Given the description of an element on the screen output the (x, y) to click on. 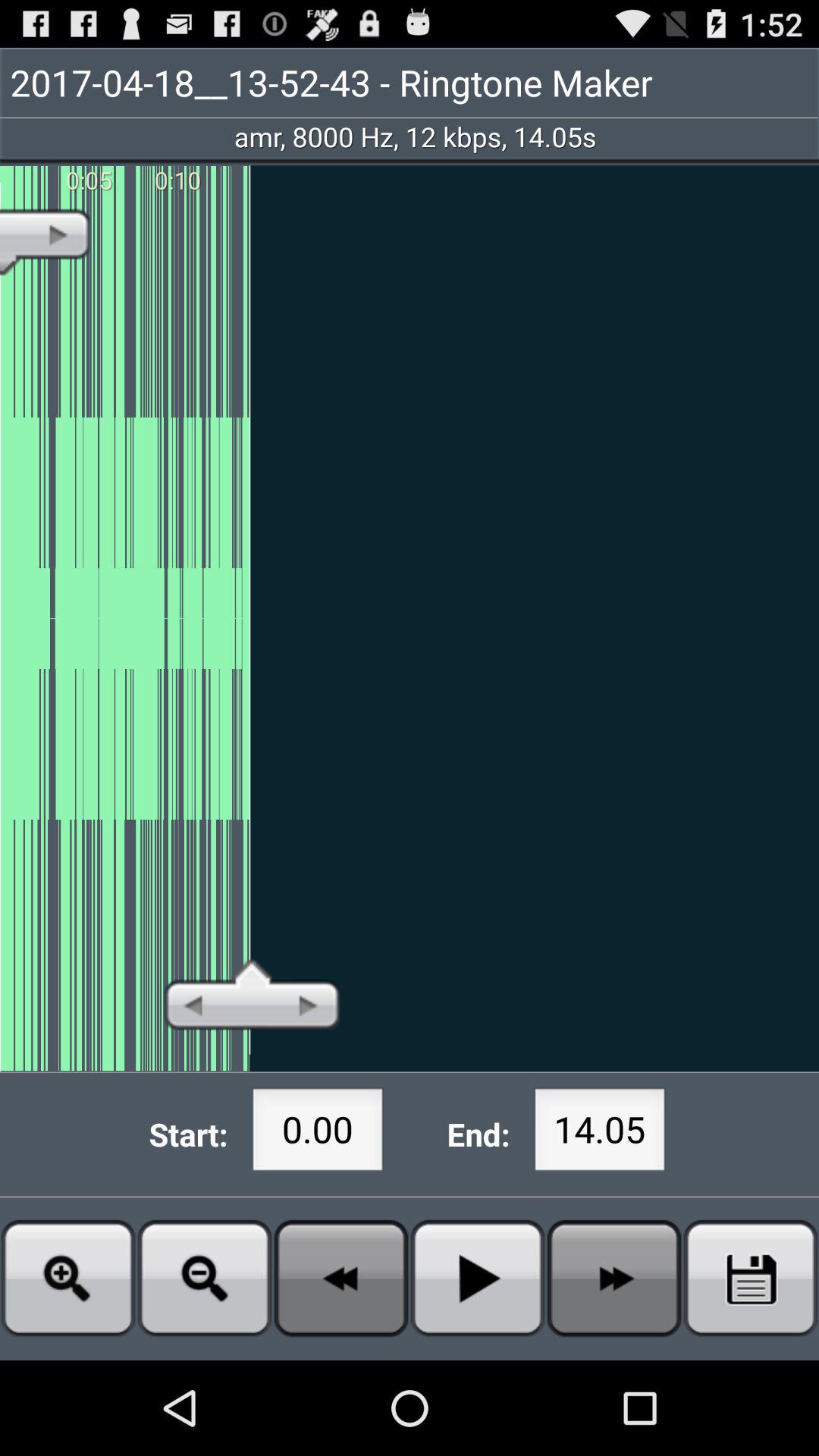
zoom in (68, 1278)
